Given the description of an element on the screen output the (x, y) to click on. 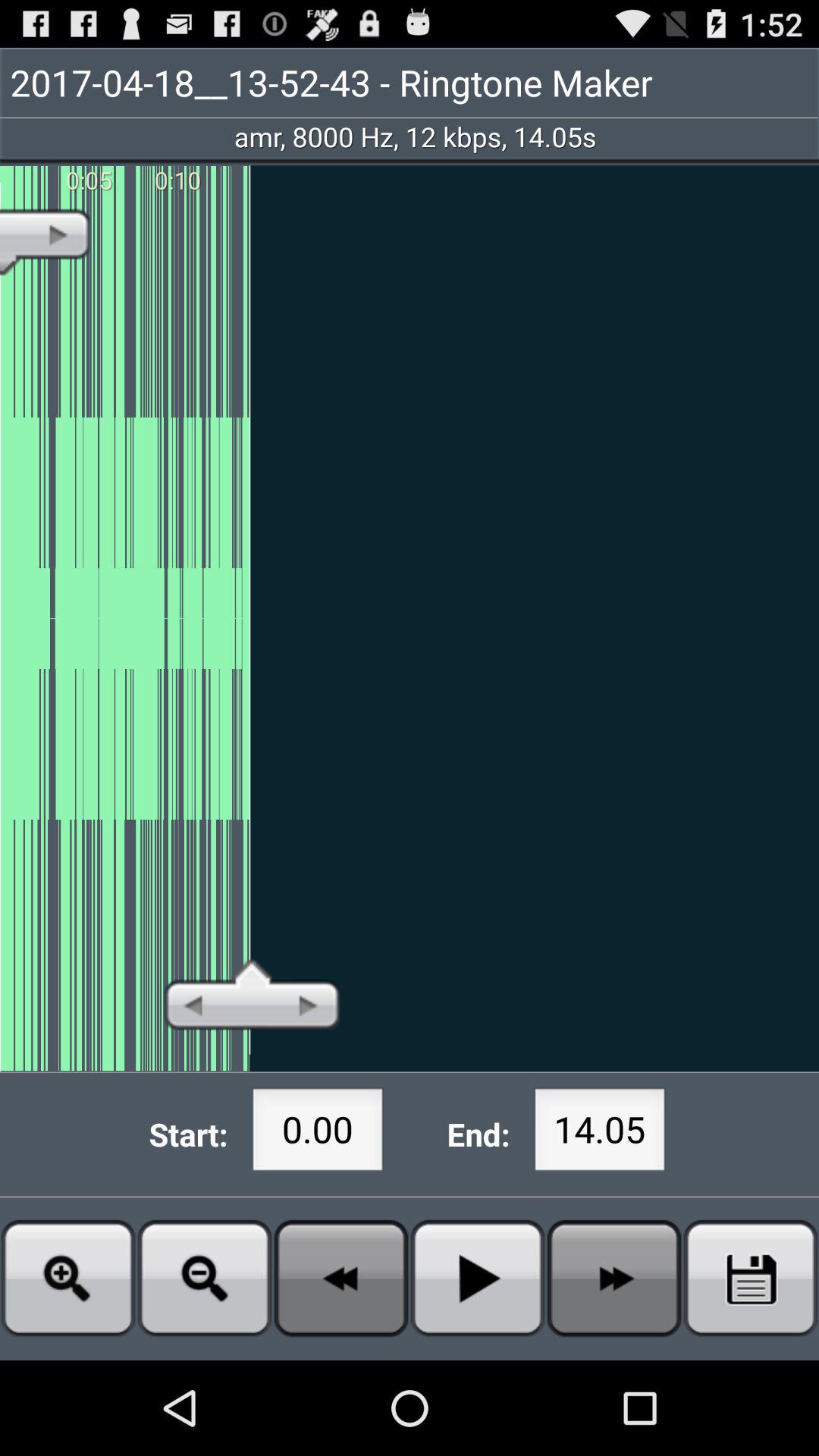
zoom in (68, 1278)
